Given the description of an element on the screen output the (x, y) to click on. 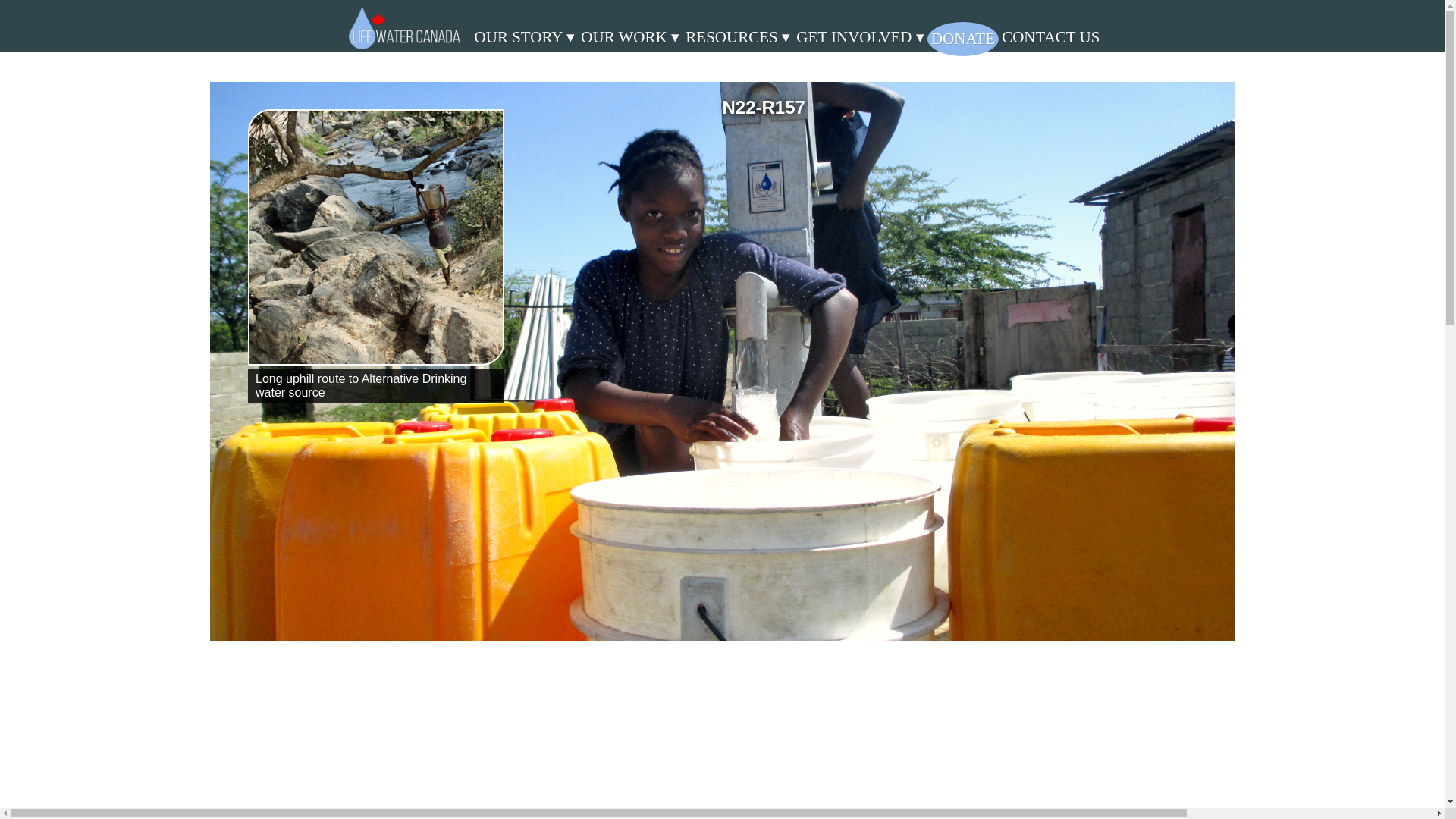
DONATE (962, 39)
